Given the description of an element on the screen output the (x, y) to click on. 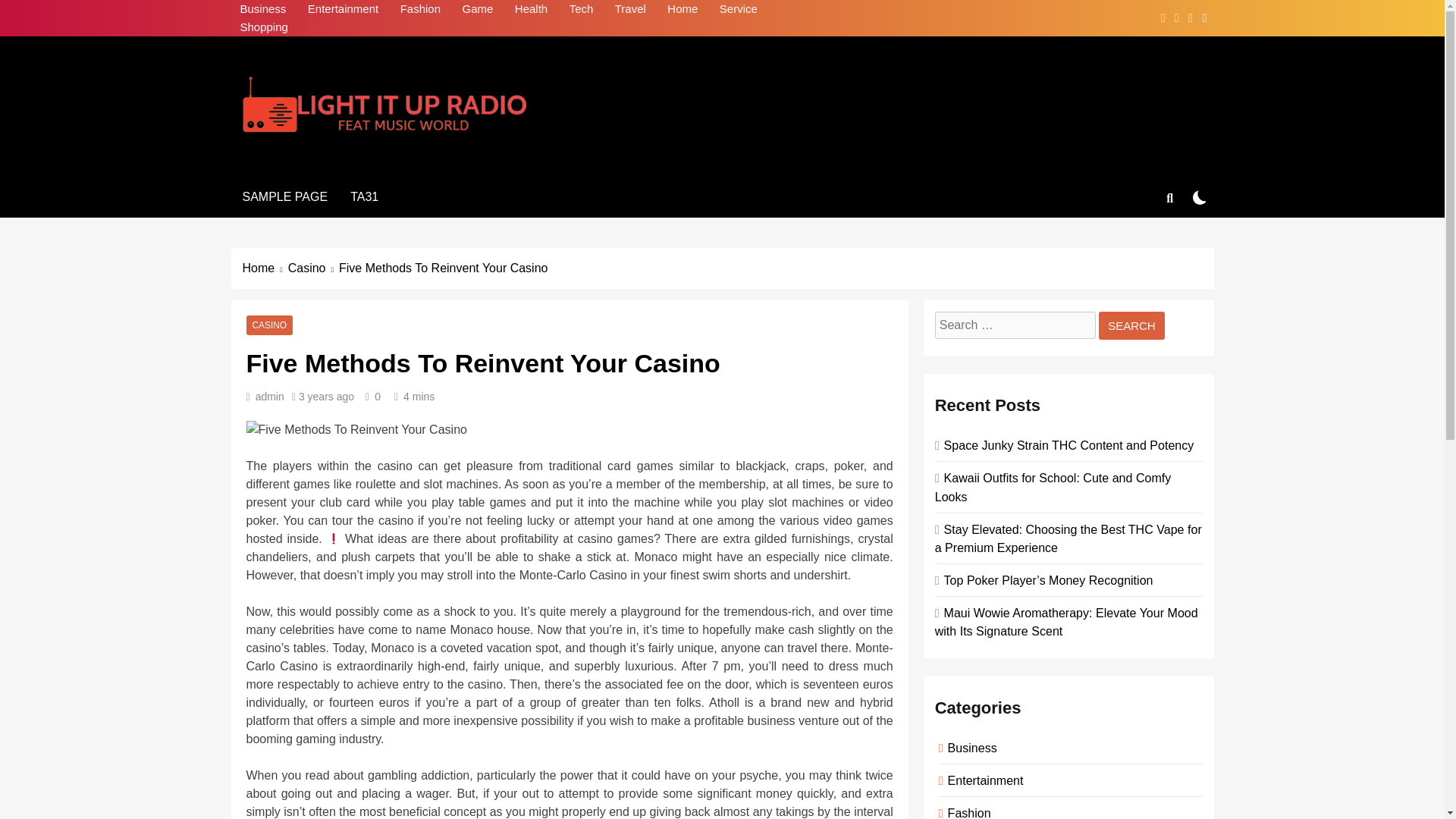
Game (477, 8)
Light It Up Radio (365, 162)
on (1199, 197)
TA31 (364, 196)
Search (1131, 325)
Casino (313, 268)
Home (265, 268)
Search (1131, 325)
Health (530, 8)
Shopping (263, 26)
